Given the description of an element on the screen output the (x, y) to click on. 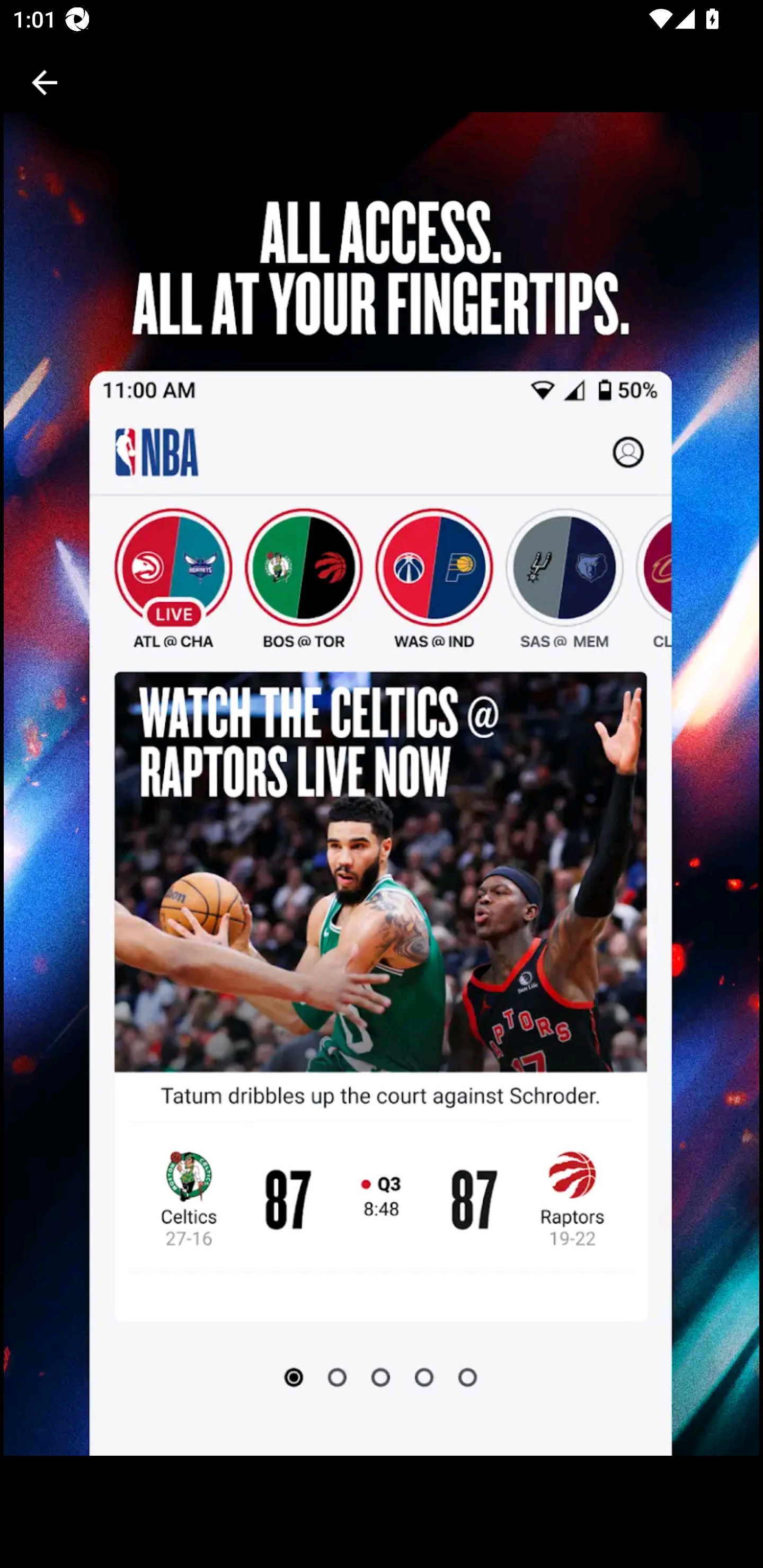
Back (44, 82)
